Given the description of an element on the screen output the (x, y) to click on. 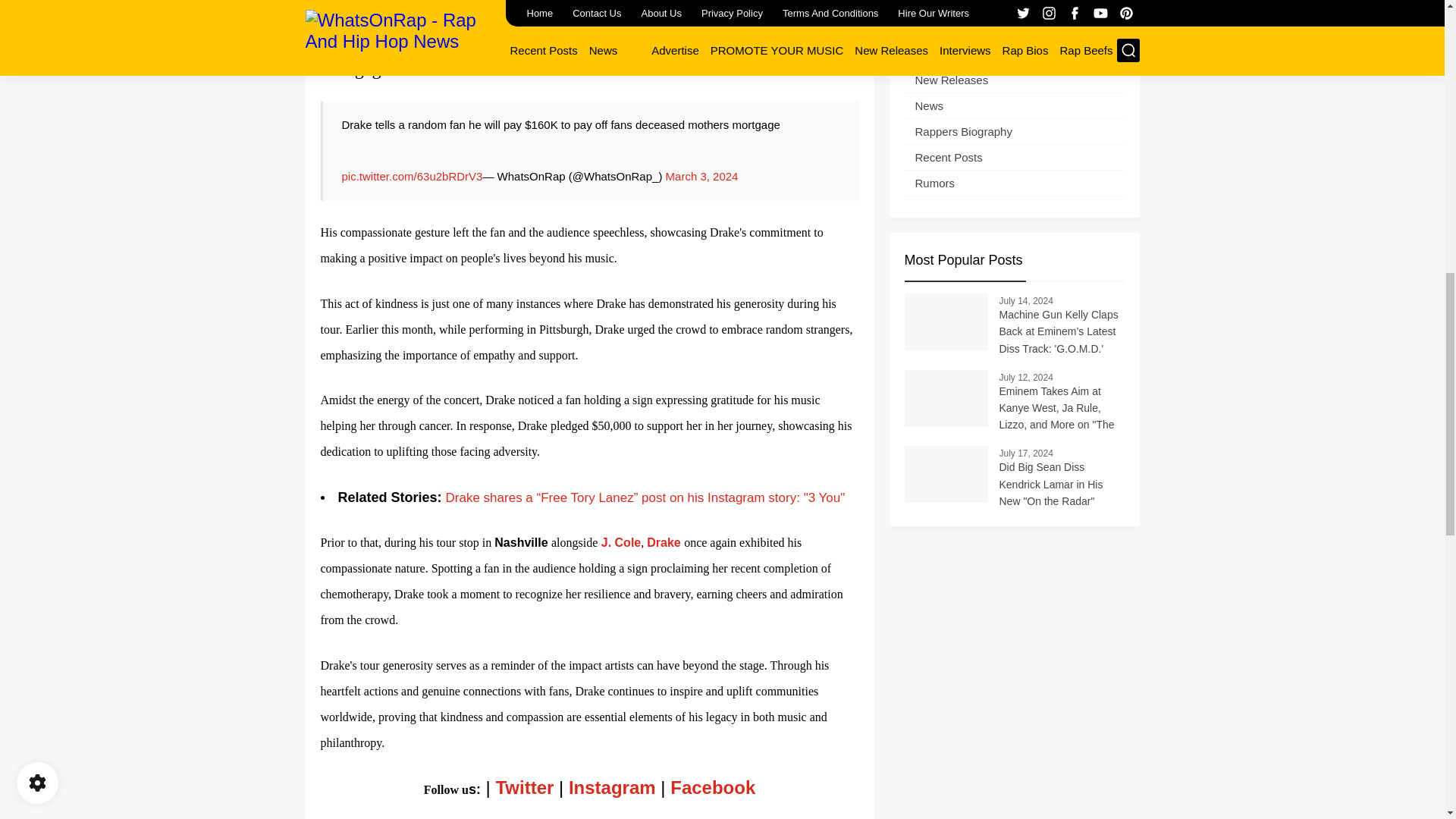
March 3, 2024 (701, 175)
